Given the description of an element on the screen output the (x, y) to click on. 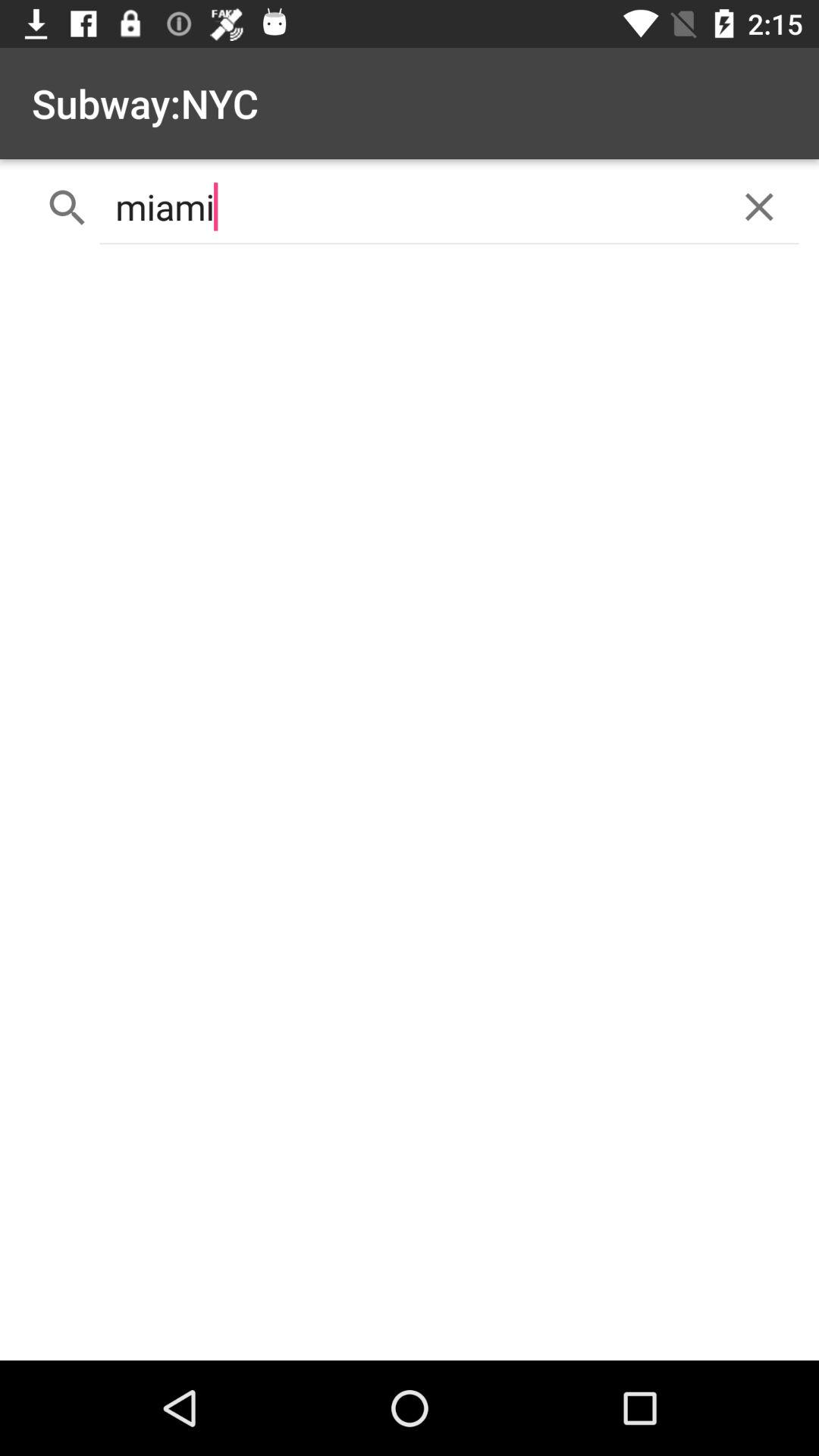
turn on item at the center (409, 808)
